Given the description of an element on the screen output the (x, y) to click on. 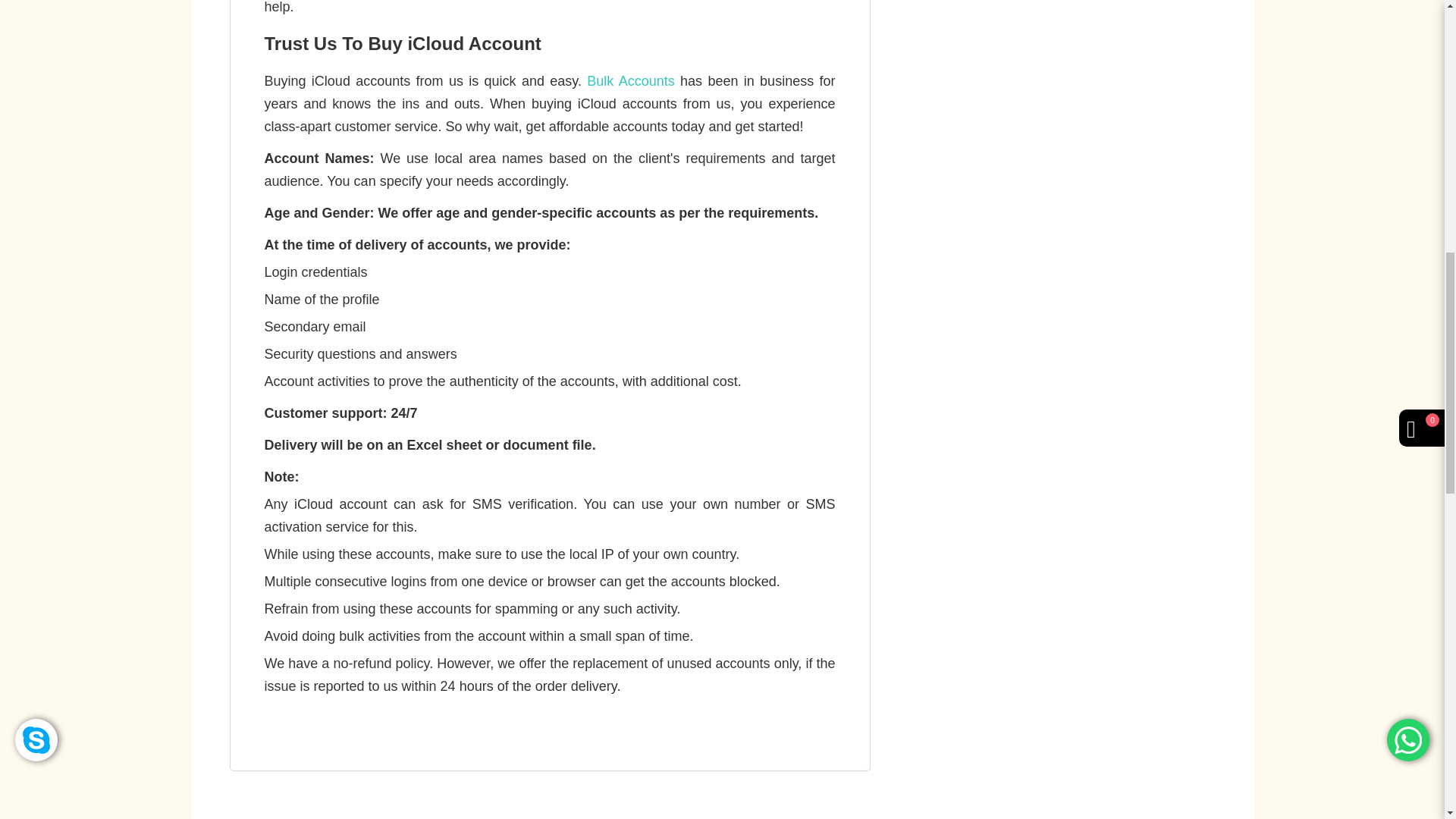
See detail (1048, 42)
Bulk Accounts (630, 80)
Email Accounts (1111, 11)
See detail (1048, 139)
Email Accounts (1111, 108)
